Given the description of an element on the screen output the (x, y) to click on. 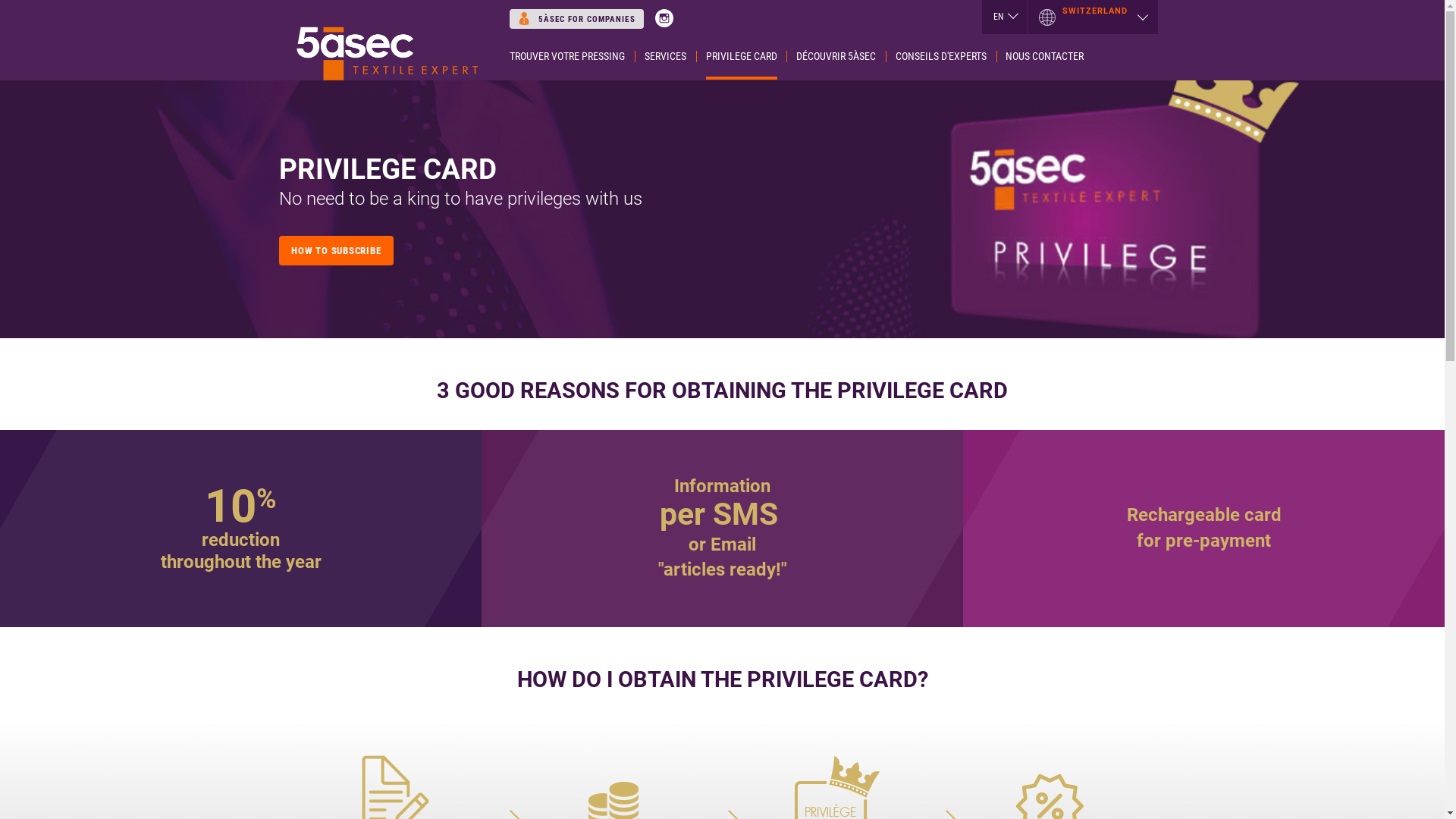
PRIVILEGE CARD Element type: text (741, 56)
CONSEILS D'EXPERTS Element type: text (940, 56)
Home Element type: hover (386, 40)
NOUS CONTACTER Element type: text (1044, 56)
EN Element type: text (1004, 17)
TROUVER VOTRE PRESSING Element type: text (566, 56)
HOW TO SUBSCRIBE Element type: text (336, 249)
SERVICES Element type: text (665, 56)
Jump to navigation Element type: text (722, 1)
